Given the description of an element on the screen output the (x, y) to click on. 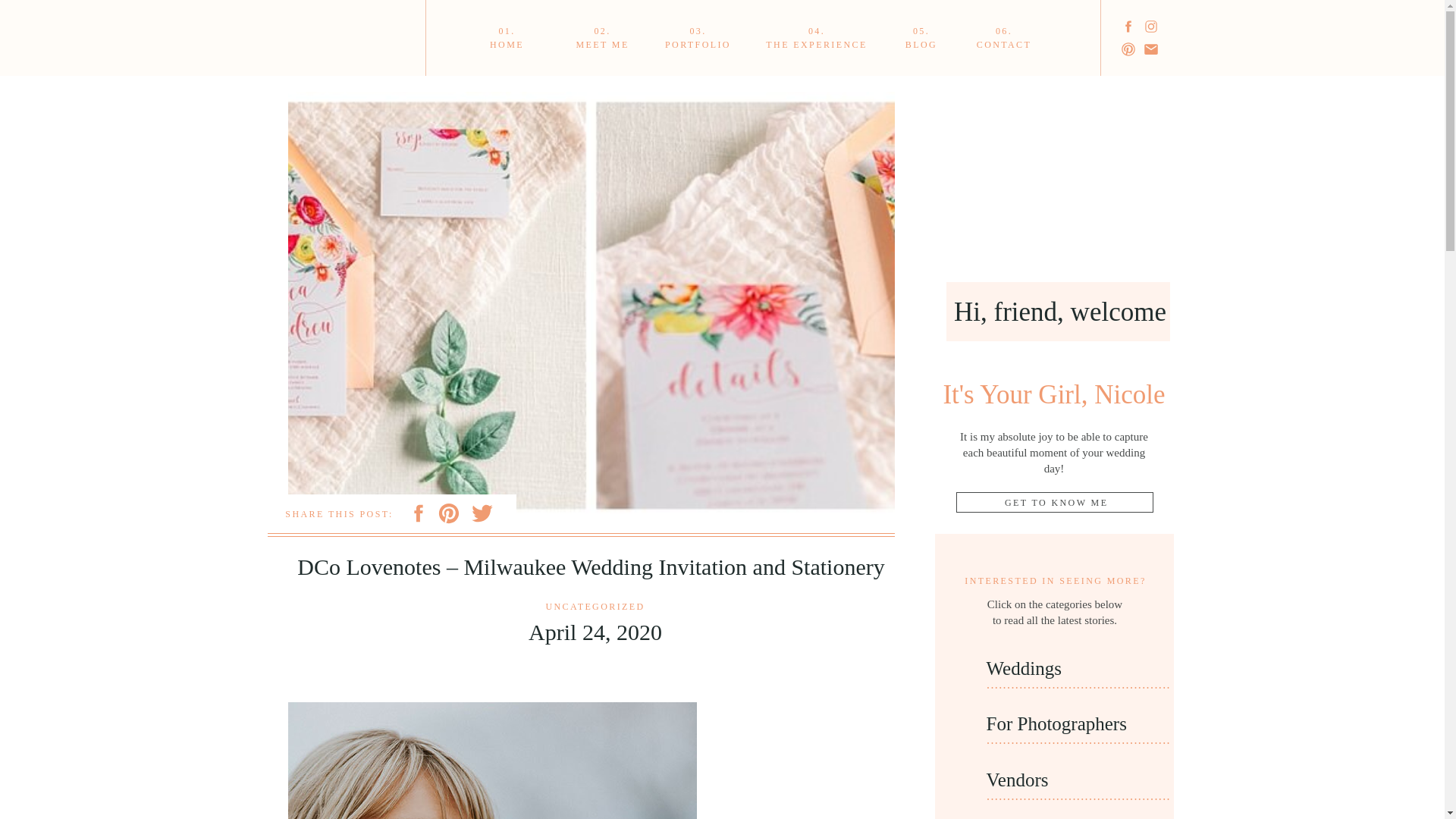
For Photographers (1061, 726)
 GET TO KNOW ME (697, 37)
Vendors (920, 37)
UNCATEGORIZED (816, 37)
